Given the description of an element on the screen output the (x, y) to click on. 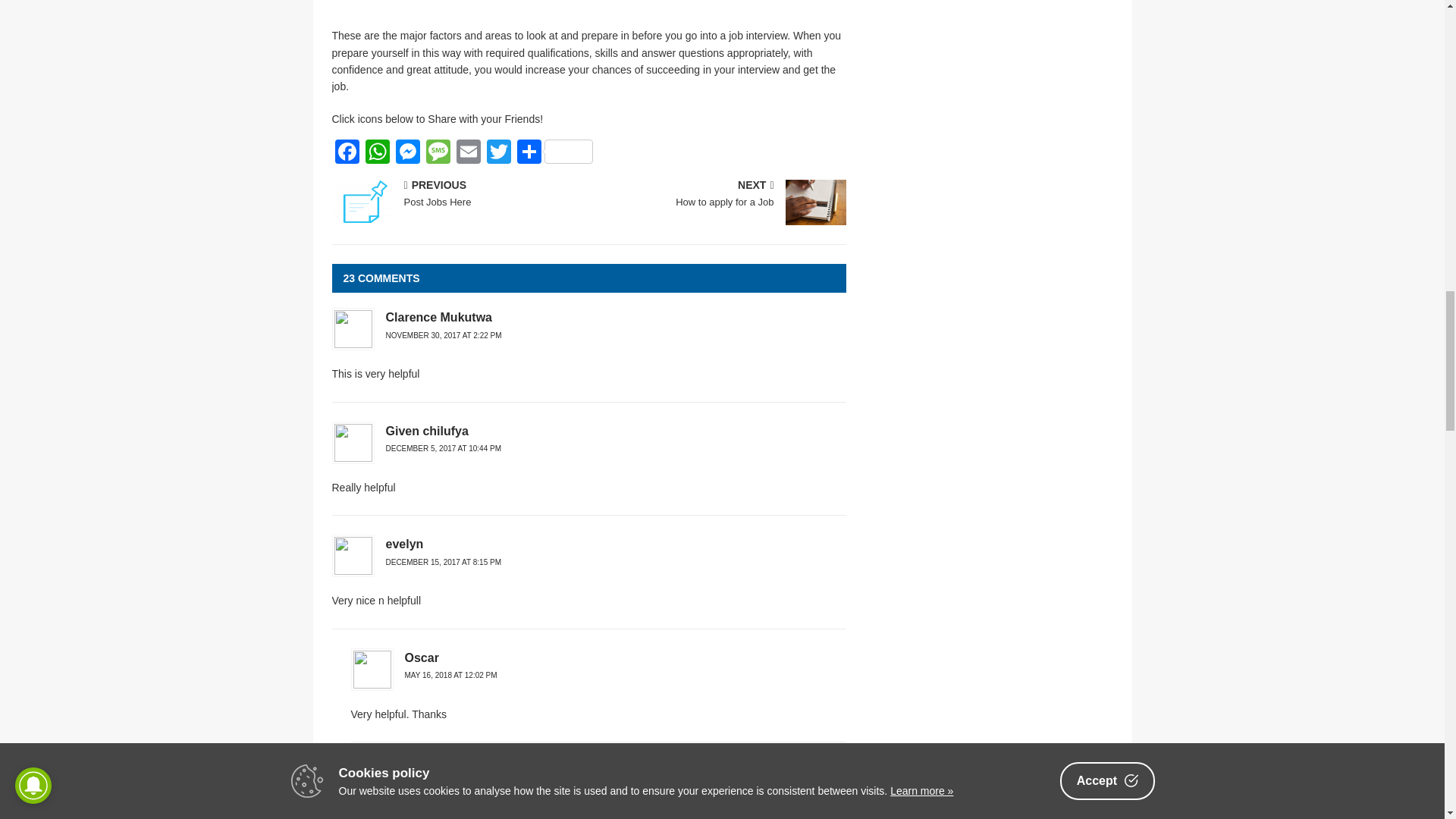
Share (554, 153)
WhatsApp (377, 153)
Message (437, 153)
Messenger (408, 153)
Messenger (408, 153)
DECEMBER 5, 2017 AT 10:44 PM (442, 448)
DECEMBER 19, 2017 AT 1:23 PM (442, 788)
Email (467, 153)
MAY 16, 2018 AT 12:02 PM (450, 674)
Lufeyo Kumwenda (720, 194)
Twitter (439, 770)
Facebook (498, 153)
Facebook (346, 153)
